Given the description of an element on the screen output the (x, y) to click on. 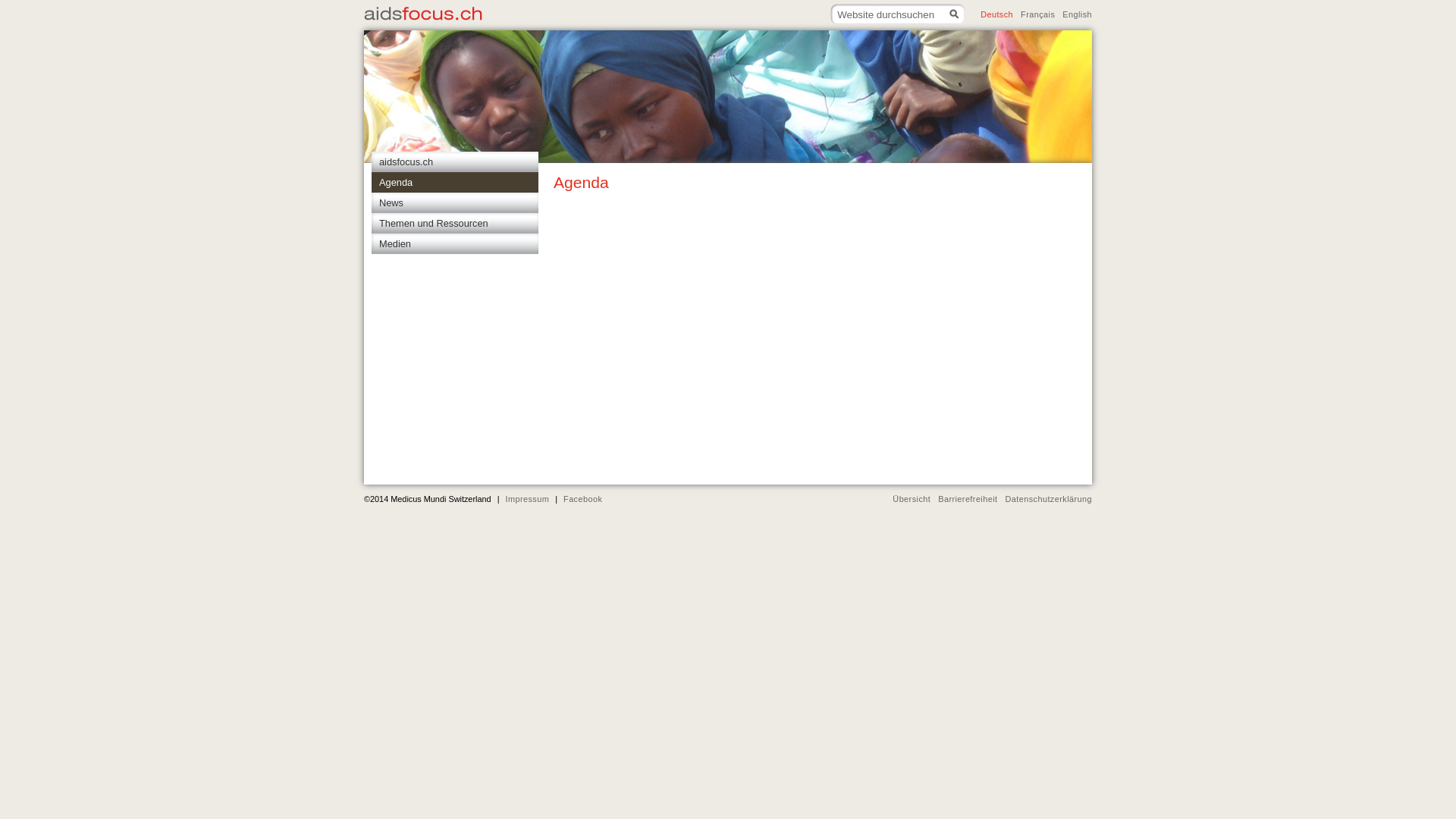
English Element type: text (1073, 10)
Facebook Element type: text (582, 498)
Themen und Ressourcen Element type: text (454, 223)
Website durchsuchen Element type: hover (899, 14)
Deutsch Element type: text (992, 10)
Impressum Element type: text (526, 498)
Barrierefreiheit Element type: text (963, 499)
Medien Element type: text (454, 243)
Agenda Element type: hover (777, 189)
Agenda Element type: text (454, 182)
News Element type: text (454, 202)
aidsfocus.ch Element type: text (454, 161)
